Given the description of an element on the screen output the (x, y) to click on. 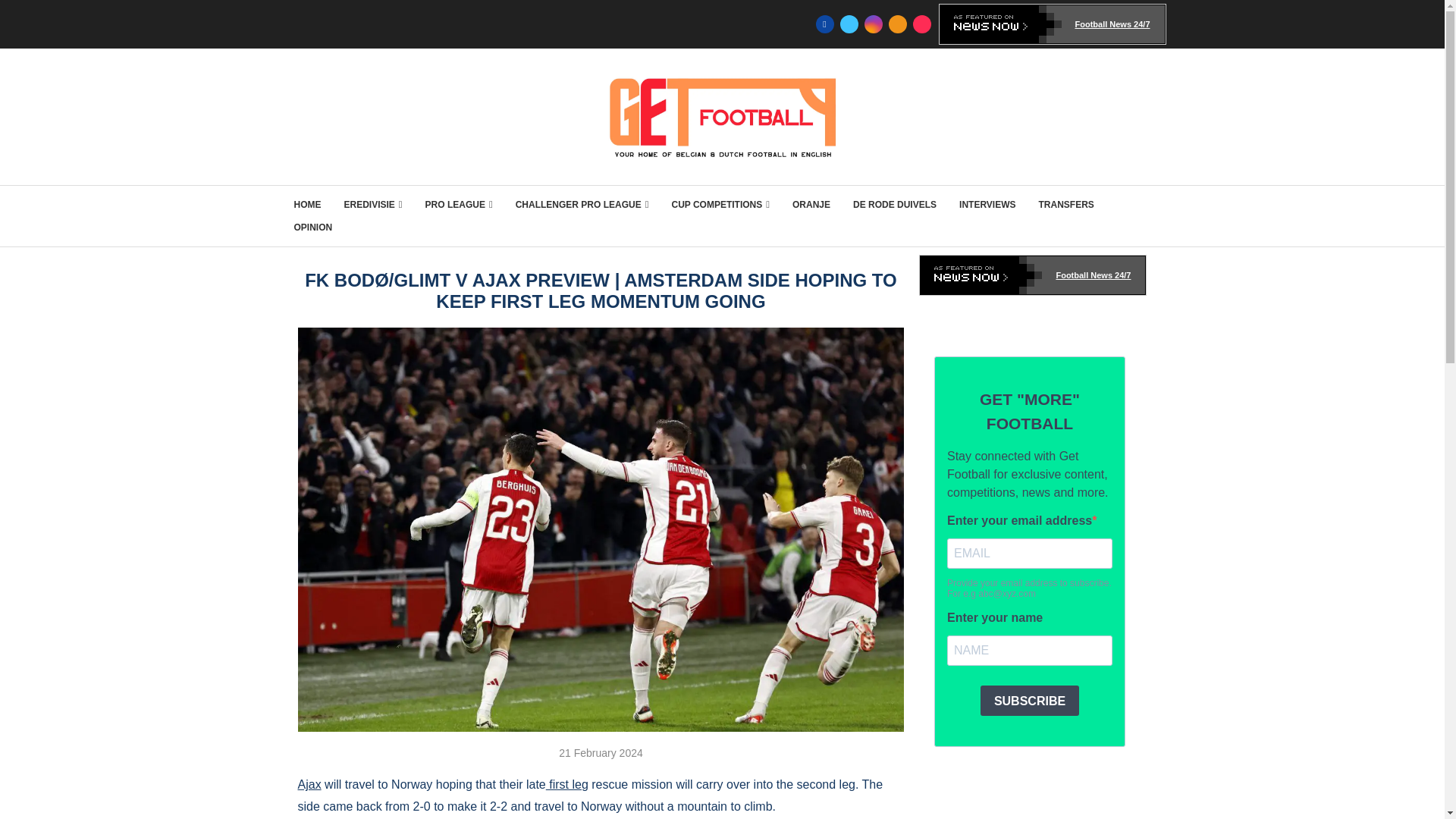
Click here for more Football news from NewsNow (1032, 274)
EREDIVISIE (373, 204)
Click here for more Football news from NewsNow (1052, 24)
PRO LEAGUE (459, 204)
HOME (307, 204)
